Given the description of an element on the screen output the (x, y) to click on. 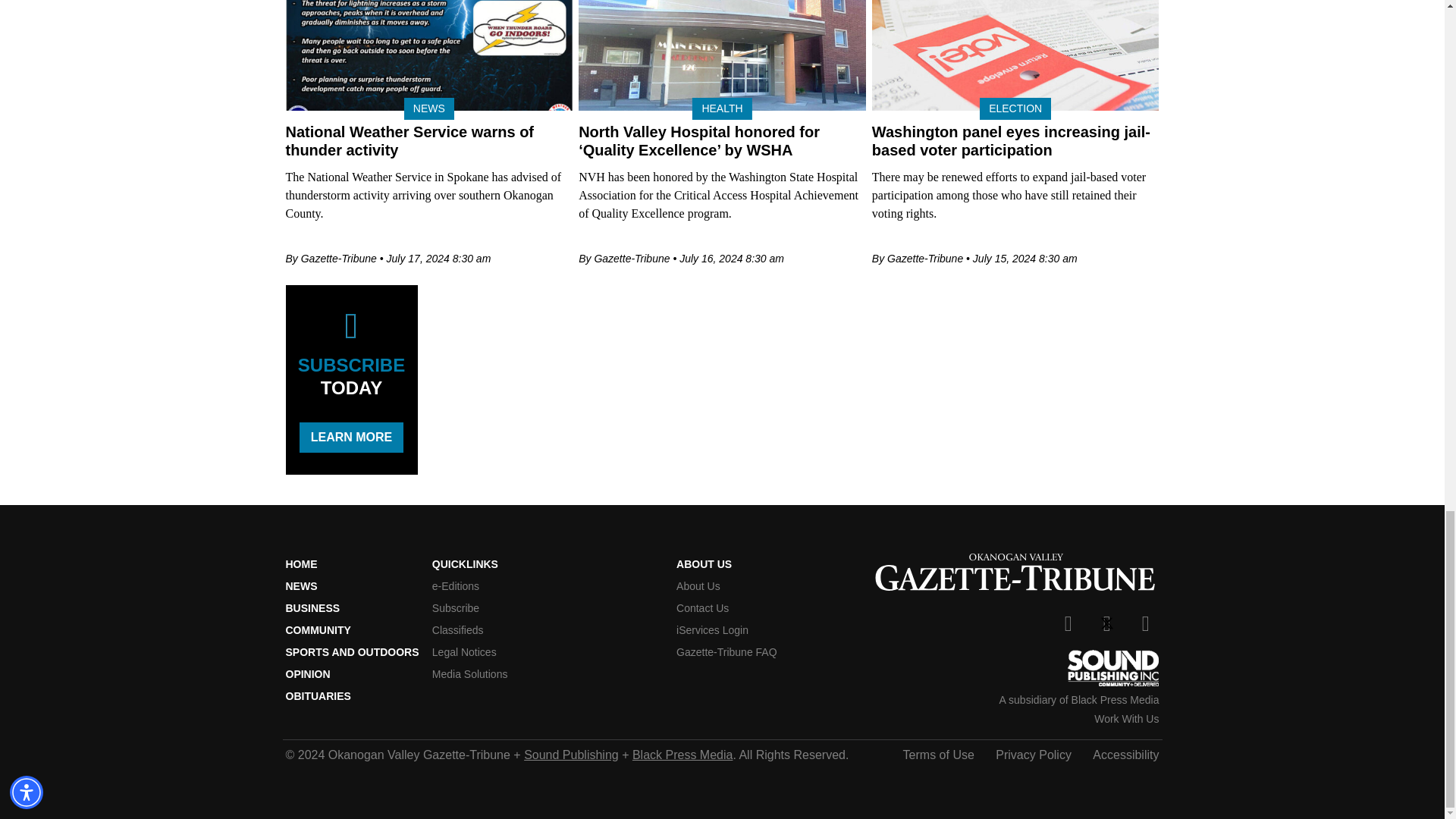
Gazette-Tribune (1015, 573)
